Given the description of an element on the screen output the (x, y) to click on. 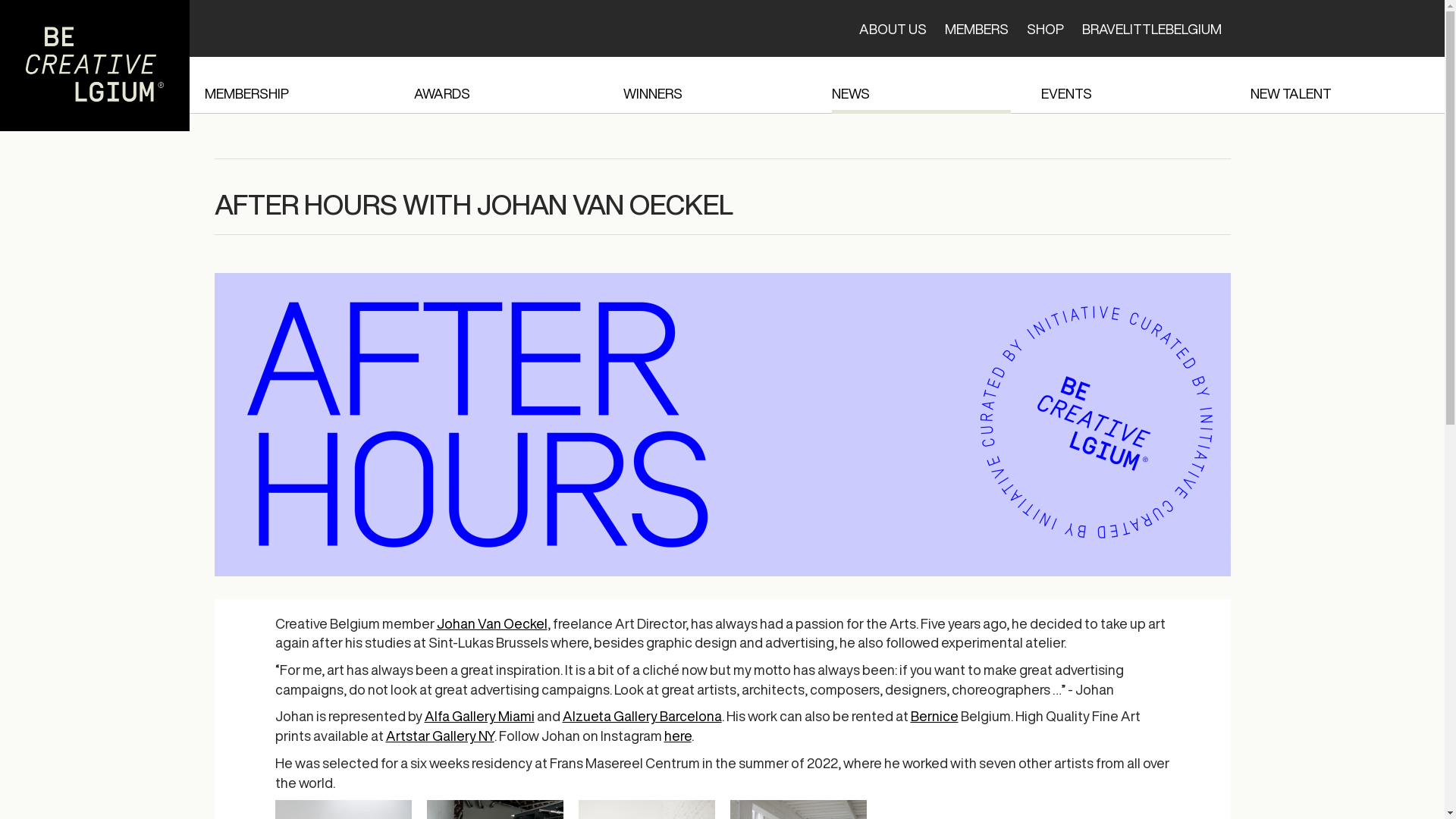
NEW TALENT Element type: text (1339, 84)
WINNERS Element type: text (712, 84)
AWARDS Element type: text (503, 84)
Johan Van Oeckel Element type: text (491, 623)
Artstar Gallery NY Element type: text (439, 735)
Alzueta Gallery Barcelona Element type: text (641, 715)
NEWS Element type: text (920, 84)
BRAVELITTLEBELGIUM Element type: text (1150, 28)
Alfa Gallery Miami Element type: text (479, 715)
EVENTS Element type: text (1130, 84)
Bernice Element type: text (933, 715)
MEMBERSHIP Element type: text (293, 84)
ABOUT US Element type: text (891, 28)
SHOP Element type: text (1044, 28)
MEMBERS Element type: text (976, 28)
here Element type: text (677, 735)
